Given the description of an element on the screen output the (x, y) to click on. 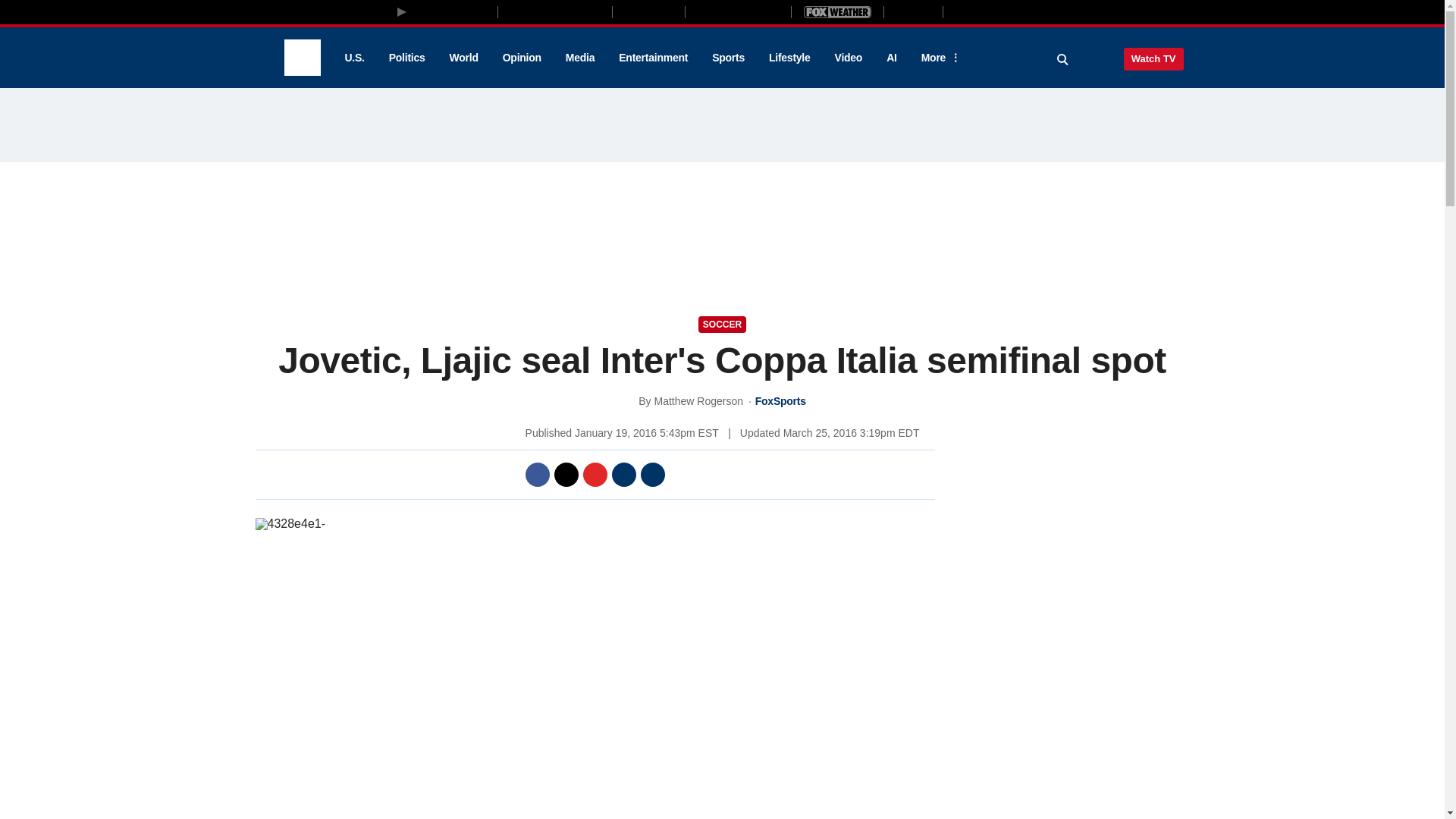
Lifestyle (789, 57)
Sports (728, 57)
Books (1007, 11)
Fox News Audio (737, 11)
Video (848, 57)
Media (580, 57)
More (938, 57)
Outkick (912, 11)
Opinion (521, 57)
Fox Business (554, 11)
U.S. (353, 57)
Watch TV (1153, 58)
Fox Nation (648, 11)
Politics (407, 57)
Fox News (301, 57)
